Given the description of an element on the screen output the (x, y) to click on. 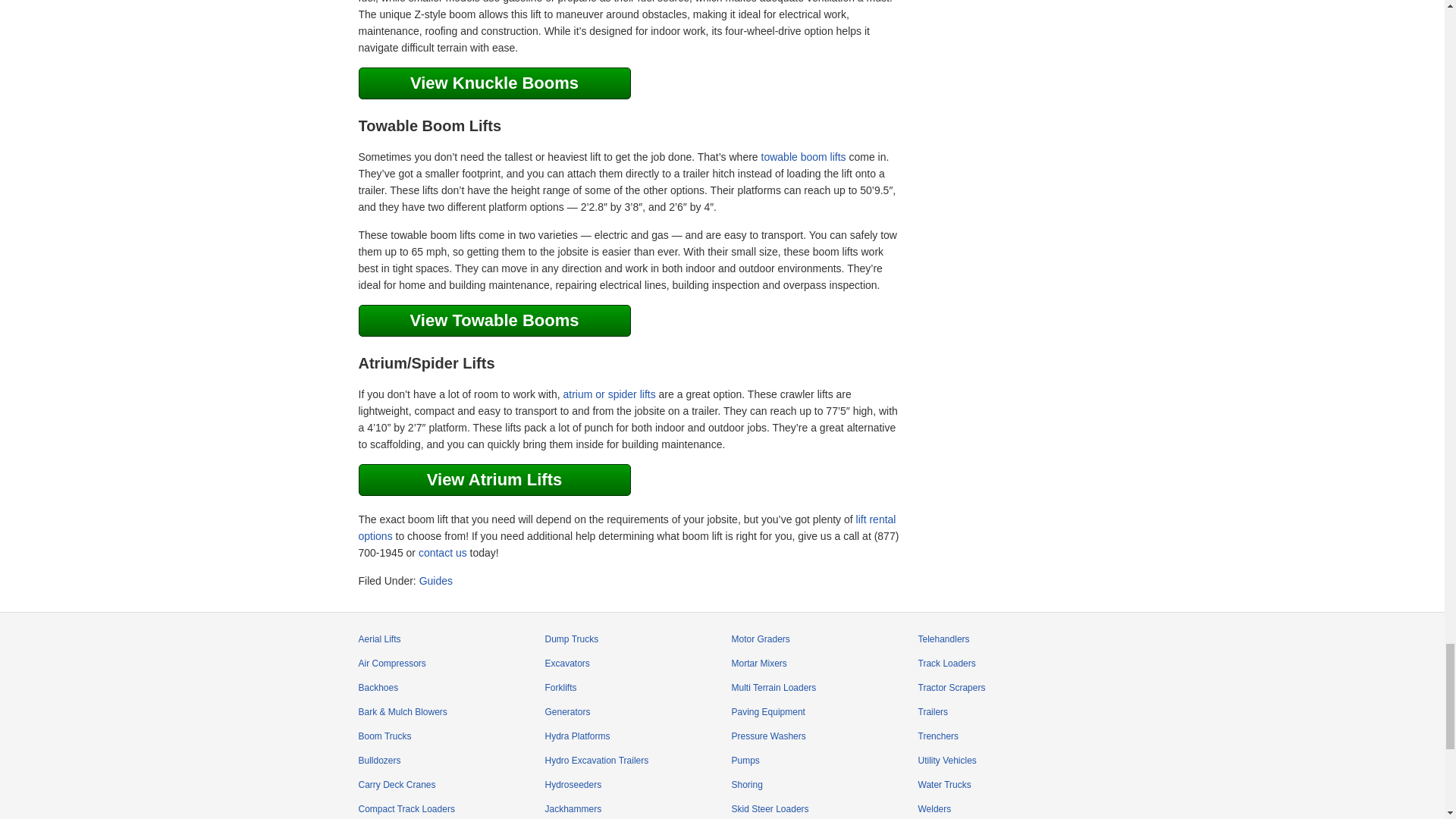
Compact Track Loader Rentals (406, 808)
Backhoe Rentals (377, 687)
Carry Deck Crane Rentals (396, 784)
Air Compressor Rentals (391, 663)
Bark and Mulch Blower Rentals (402, 711)
Bulldozer Rentals (379, 760)
Aerial Lift Rentals (379, 638)
Boom Truck Rentals (384, 736)
